Given the description of an element on the screen output the (x, y) to click on. 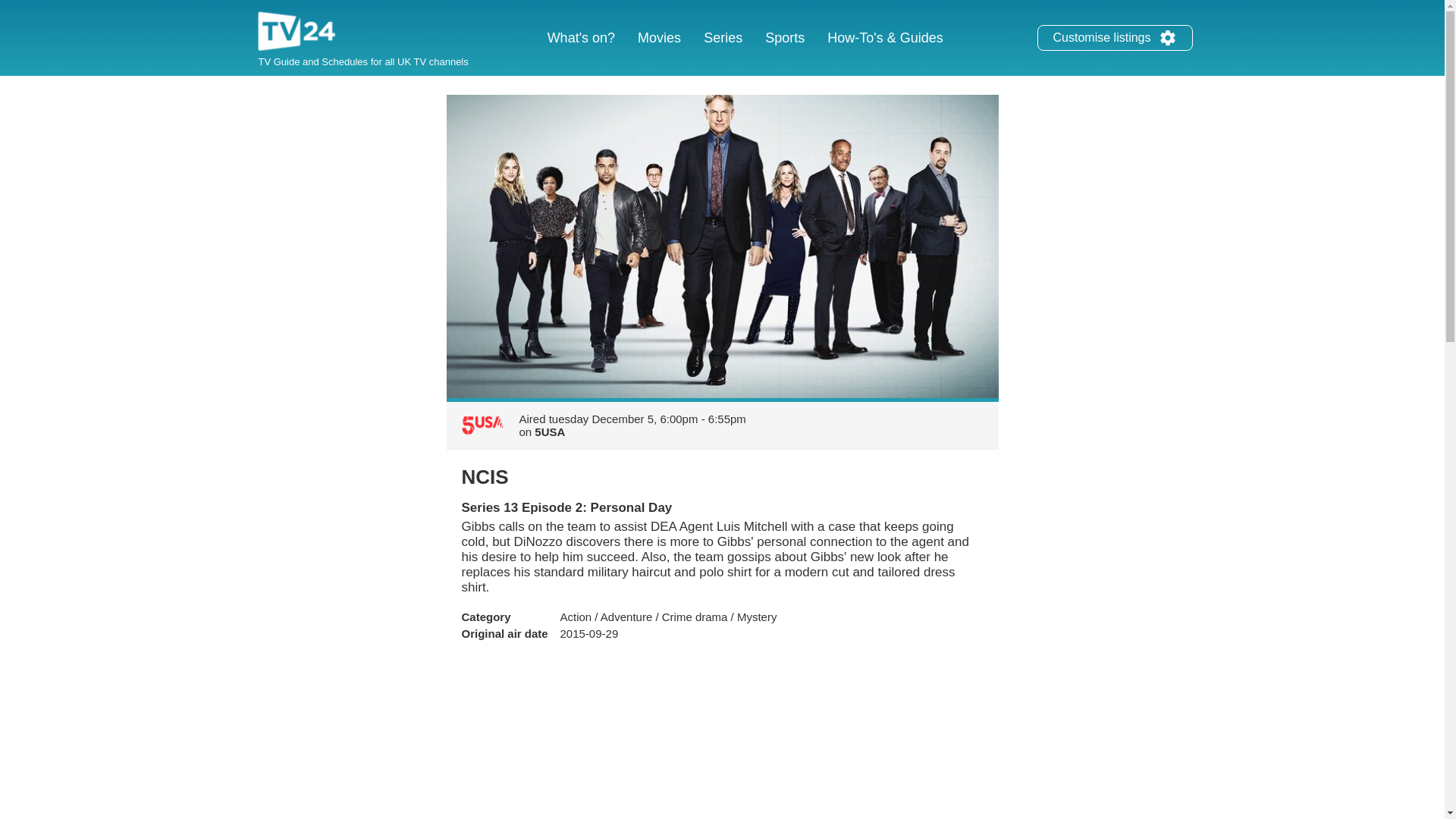
What's on? (580, 37)
TV24.co.uk (296, 33)
Customise listings (1114, 37)
Sports (784, 37)
Movies (658, 37)
Customise listings (1167, 37)
Series (722, 37)
5USA (549, 431)
